Given the description of an element on the screen output the (x, y) to click on. 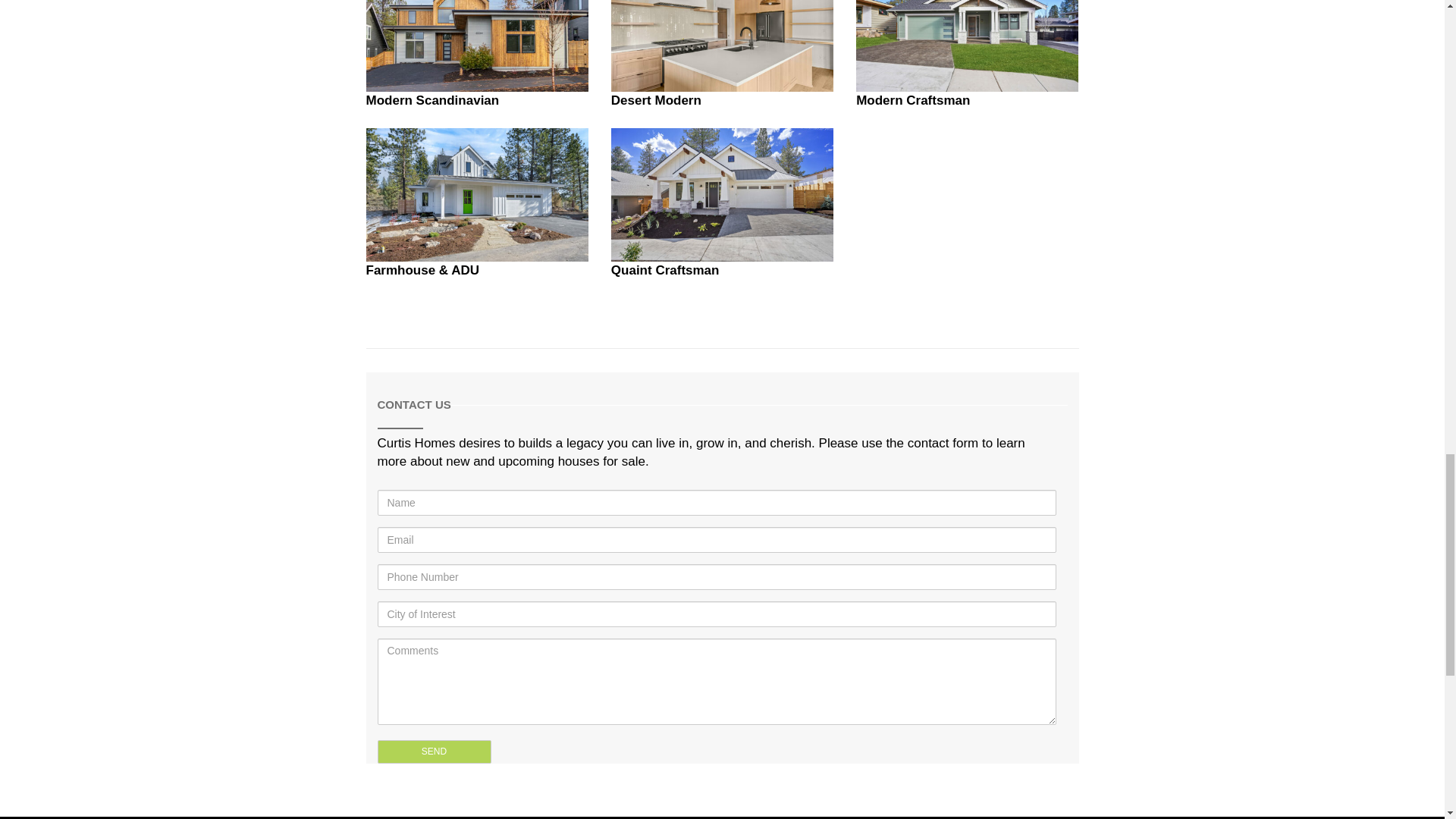
2250 NW Reserve 30 (721, 45)
DSC09944-Edit (476, 194)
DSC01925 (967, 45)
Send (434, 751)
